Given the description of an element on the screen output the (x, y) to click on. 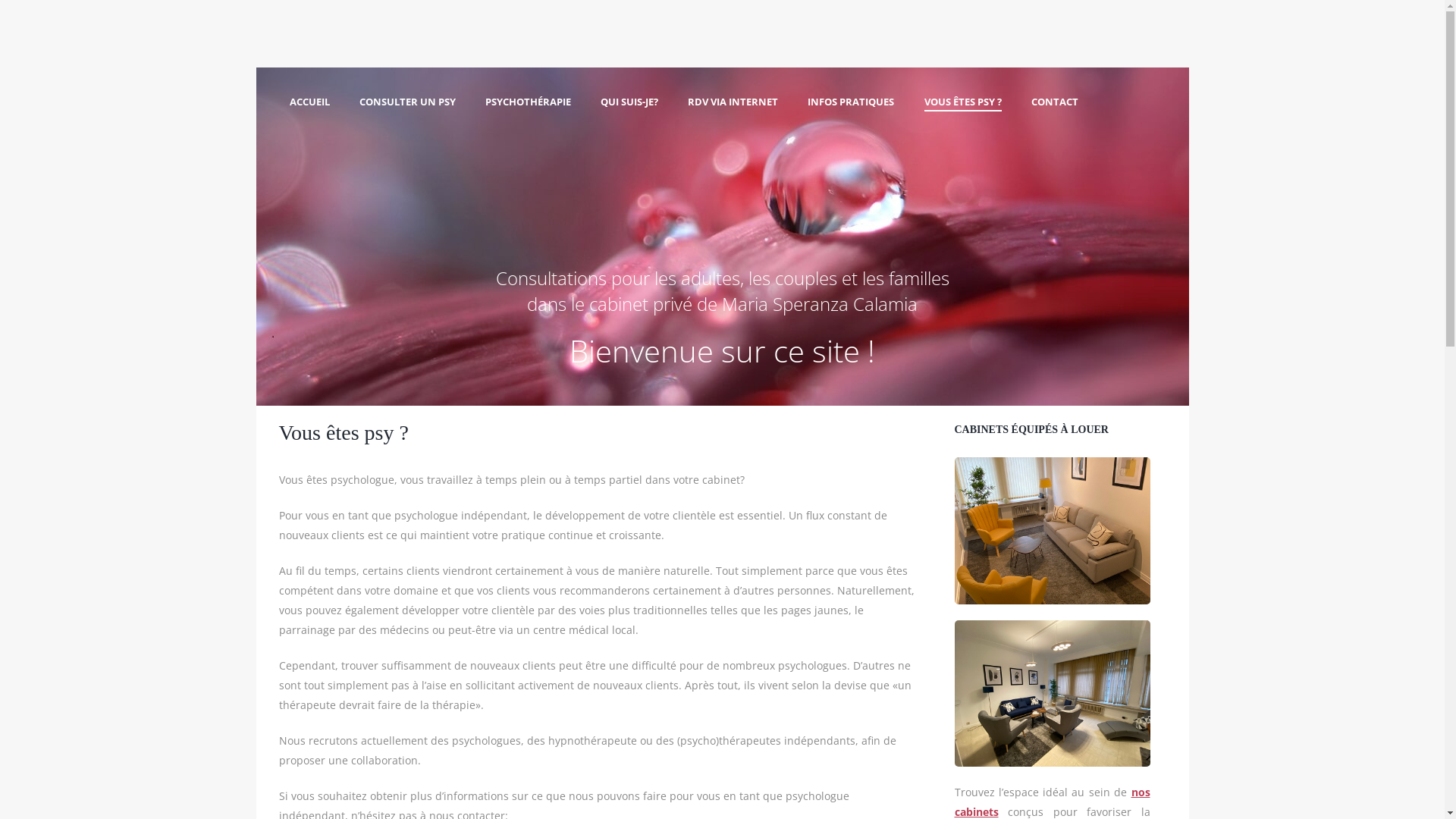
CONSULTER UN PSY Element type: text (407, 102)
ACCUEIL Element type: text (309, 102)
CONTACT Element type: text (1054, 102)
RDV VIA INTERNET Element type: text (732, 102)
QUI SUIS-JE? Element type: text (629, 102)
INFOS PRATIQUES Element type: text (850, 102)
